Given the description of an element on the screen output the (x, y) to click on. 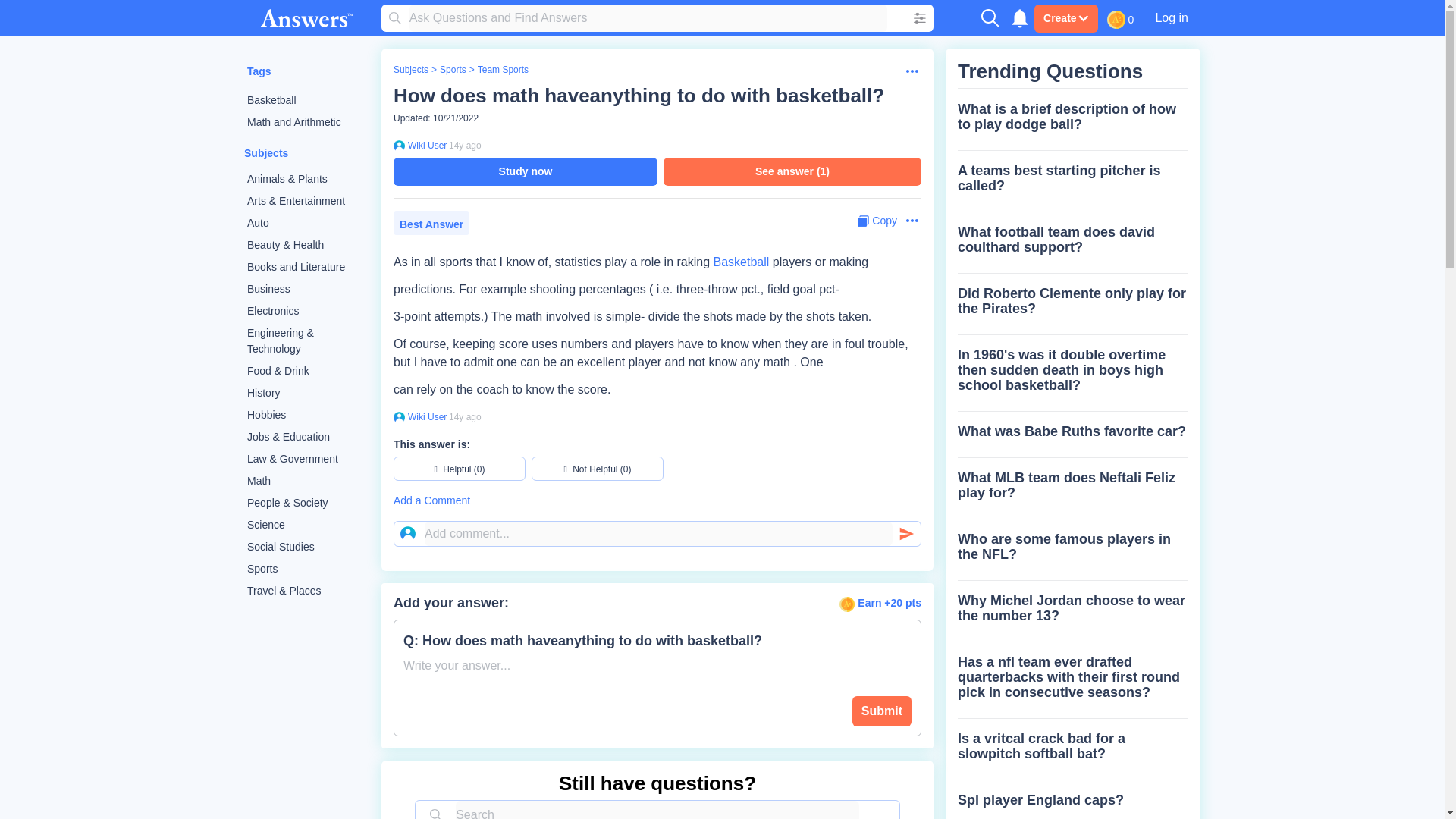
Log in (1170, 17)
Math and Arithmetic (306, 122)
Team Sports (502, 69)
History (306, 393)
Create (1065, 18)
Business (306, 289)
Math (306, 481)
Sports (452, 69)
Social Studies (306, 546)
Hobbies (306, 414)
